Given the description of an element on the screen output the (x, y) to click on. 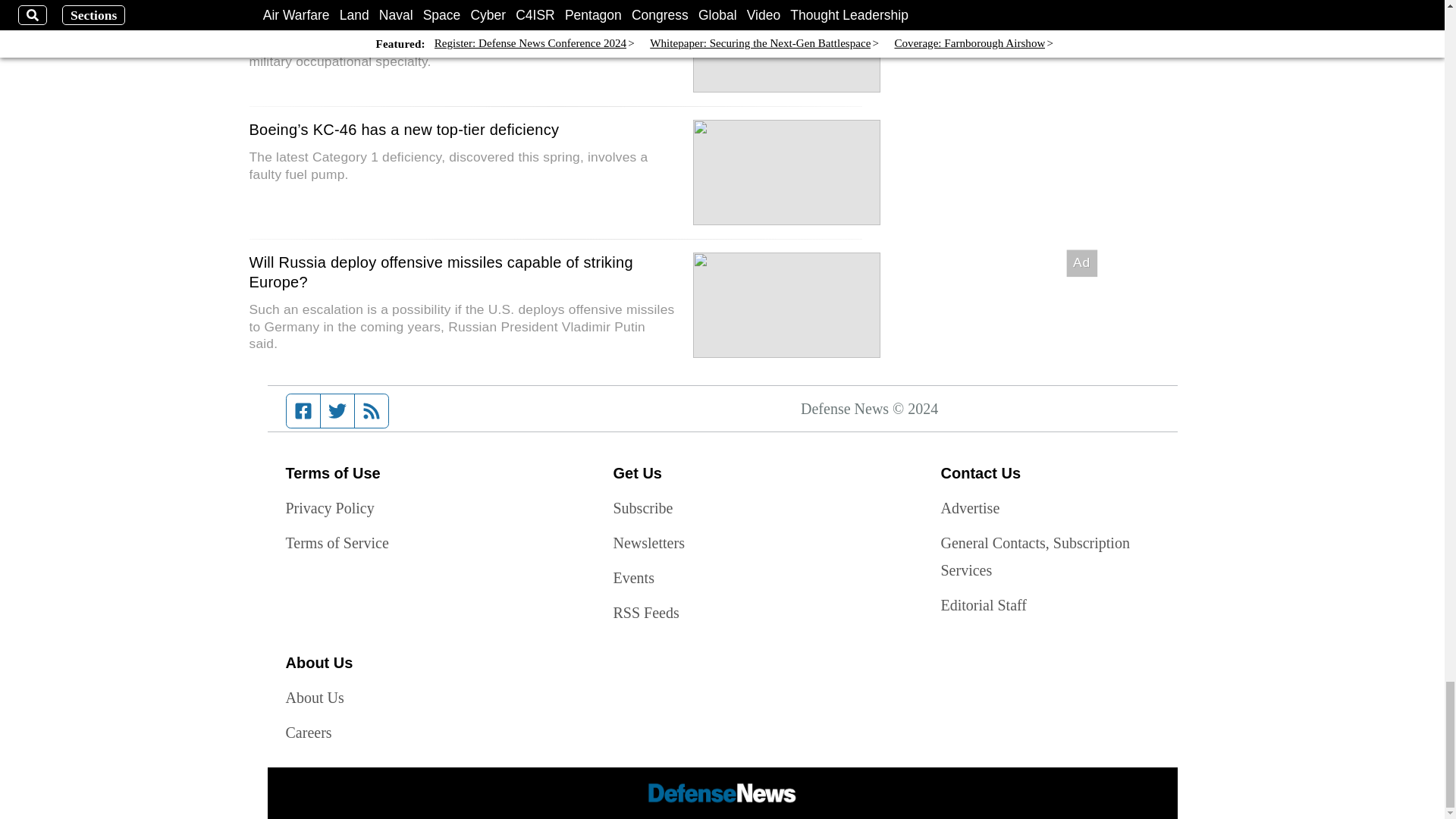
Facebook page (303, 410)
Twitter feed (336, 410)
RSS feed (371, 410)
